Given the description of an element on the screen output the (x, y) to click on. 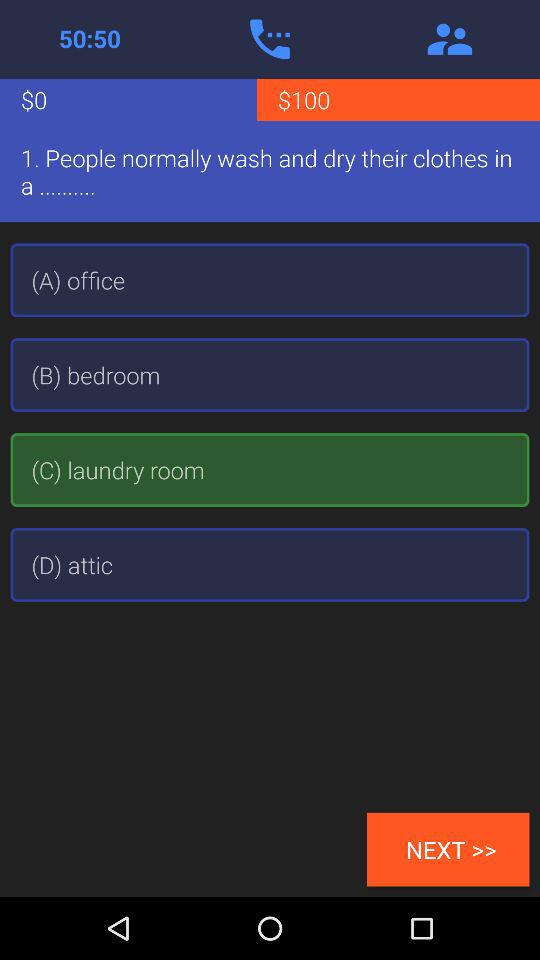
tap the icon above the $100 (450, 39)
